Given the description of an element on the screen output the (x, y) to click on. 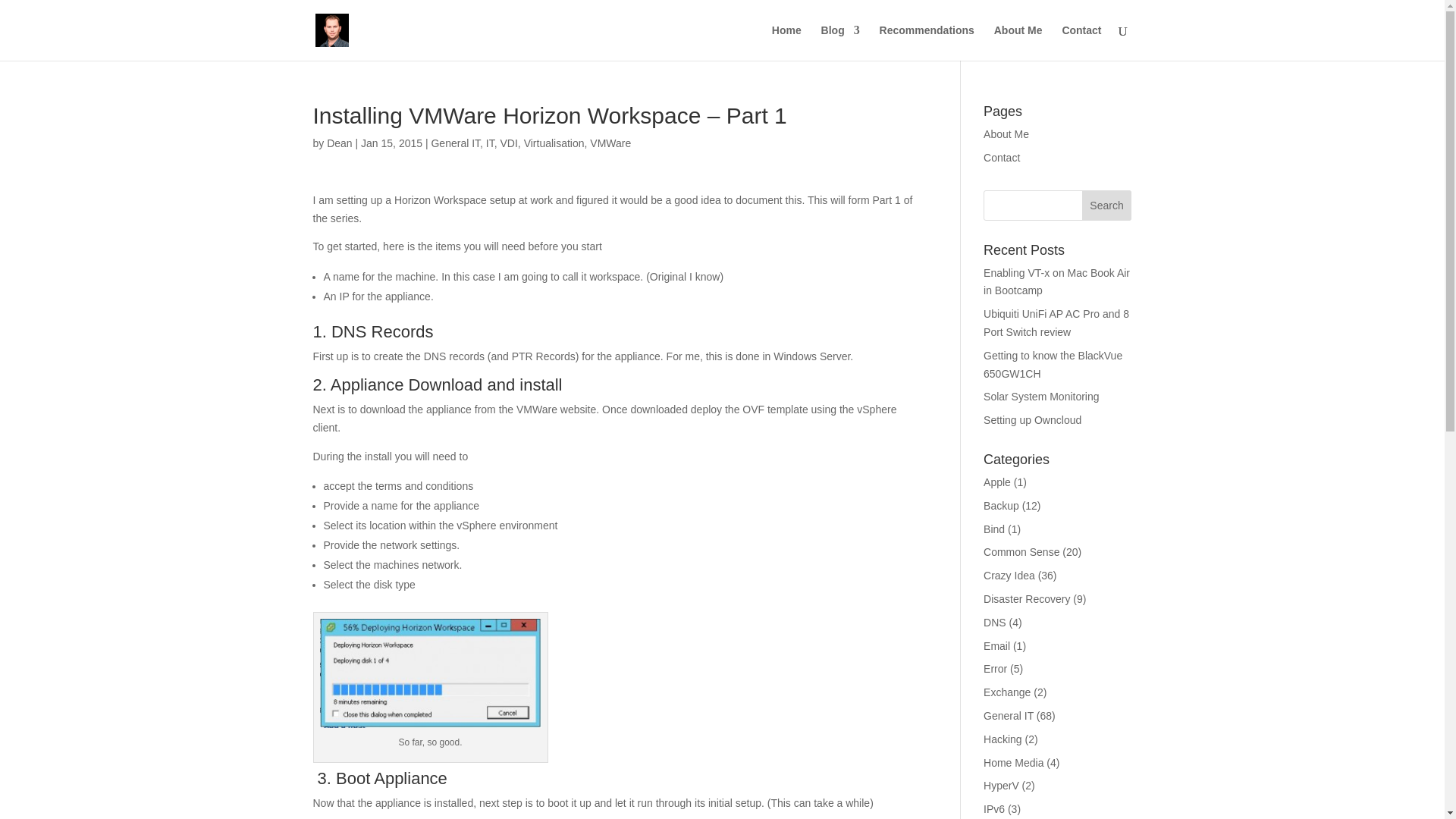
Contact (1002, 157)
Search (1106, 205)
Posts by Dean (339, 143)
Recommendations (926, 42)
VDI (509, 143)
About Me (1018, 42)
Email (997, 645)
Bind (994, 529)
General IT (1008, 715)
VMWare (609, 143)
Crazy Idea (1009, 575)
Enabling VT-x on Mac Book Air in Bootcamp (1056, 281)
Backup (1001, 505)
Apple (997, 481)
Exchange (1007, 692)
